Given the description of an element on the screen output the (x, y) to click on. 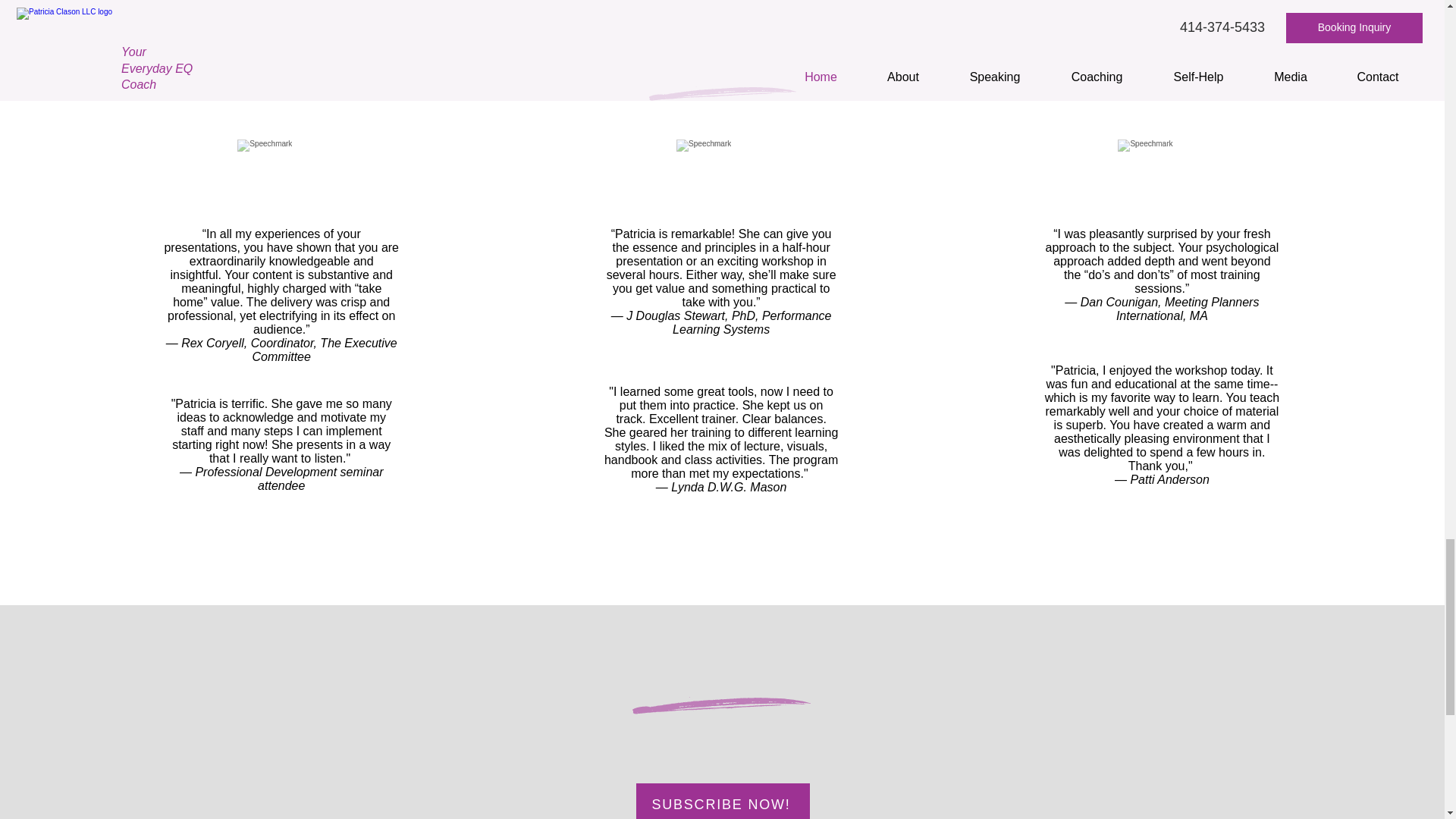
SUBSCRIBE NOW! (721, 800)
